Given the description of an element on the screen output the (x, y) to click on. 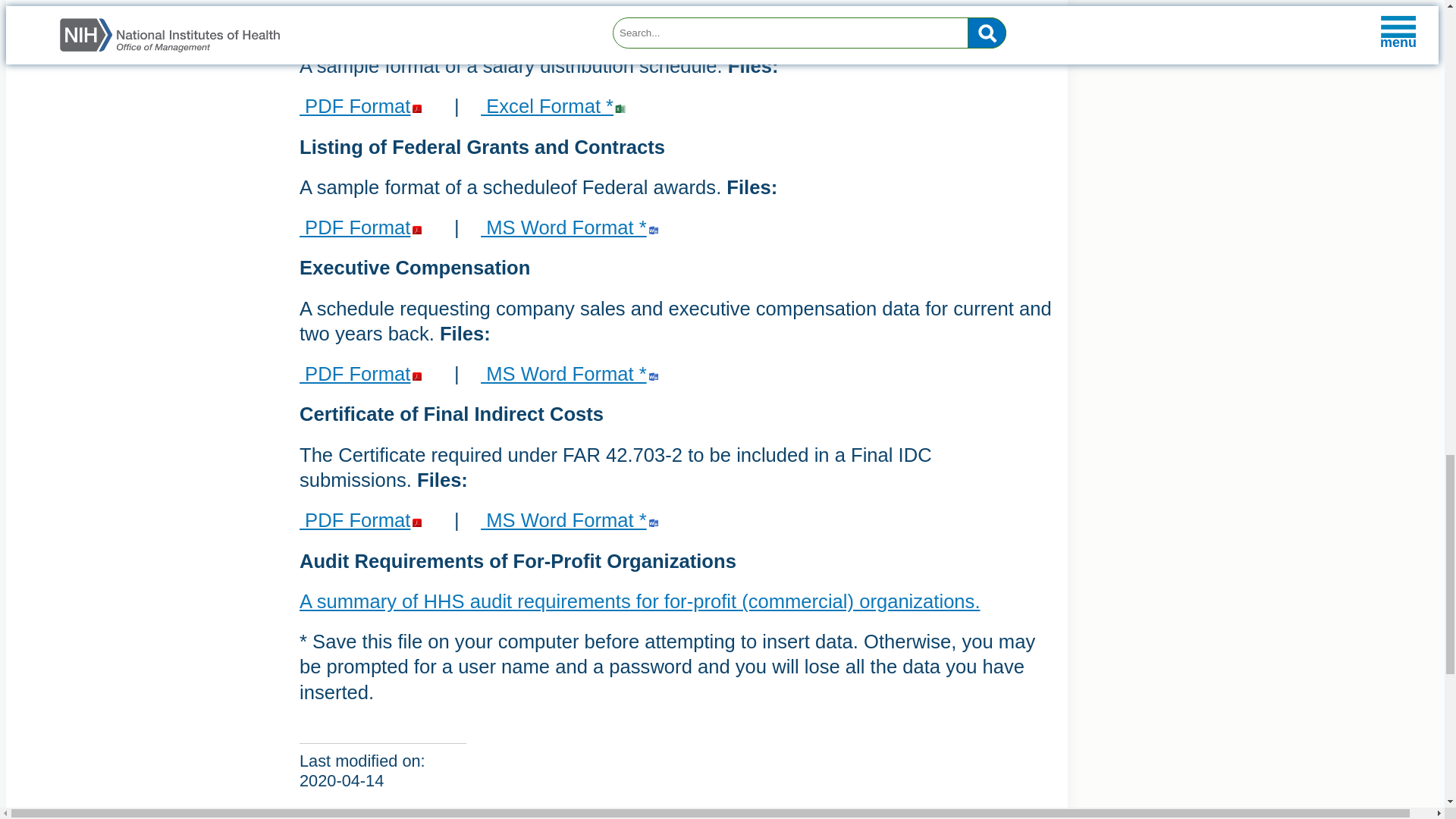
Click to see the file in PDF format (571, 227)
Click to see the file in PDF format (362, 227)
Click to see the file in PDF format (362, 373)
Click to see the file in PDF format (362, 106)
Click to time sheet in excel format (555, 106)
Click to see the file in PDF format (571, 373)
